Given the description of an element on the screen output the (x, y) to click on. 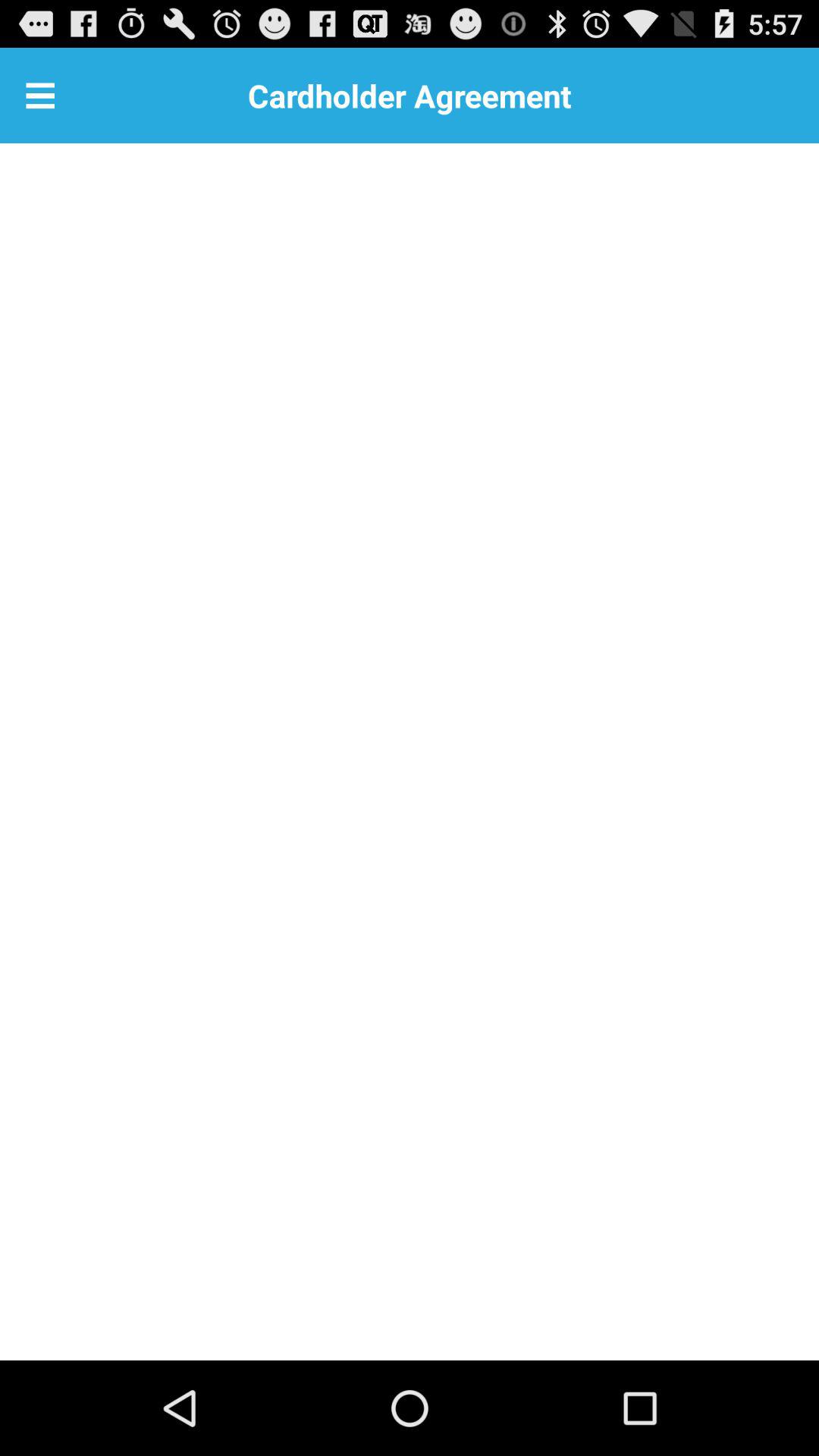
tap app to the left of cardholder agreement item (39, 95)
